Given the description of an element on the screen output the (x, y) to click on. 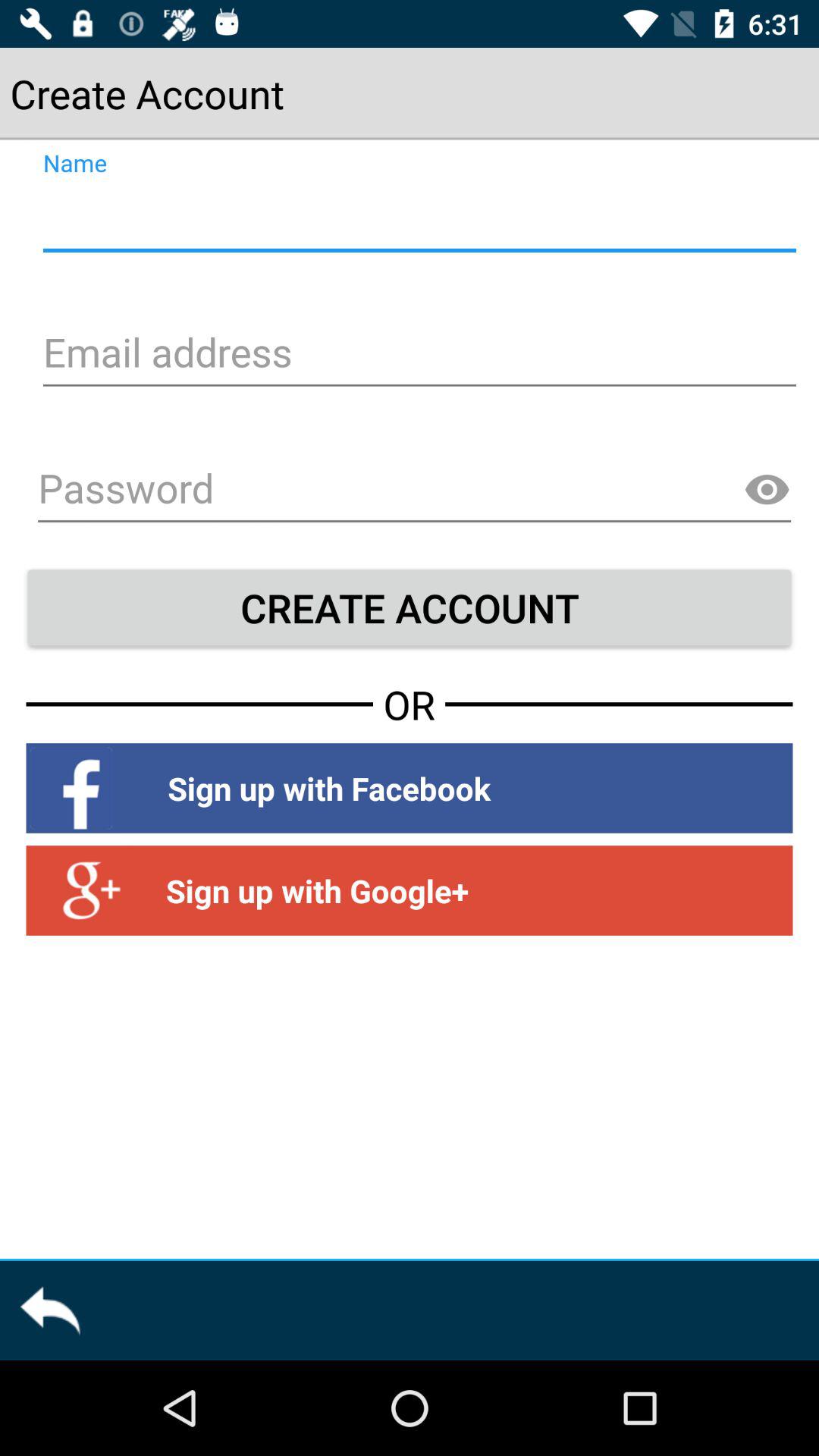
name for account creation (417, 218)
